Given the description of an element on the screen output the (x, y) to click on. 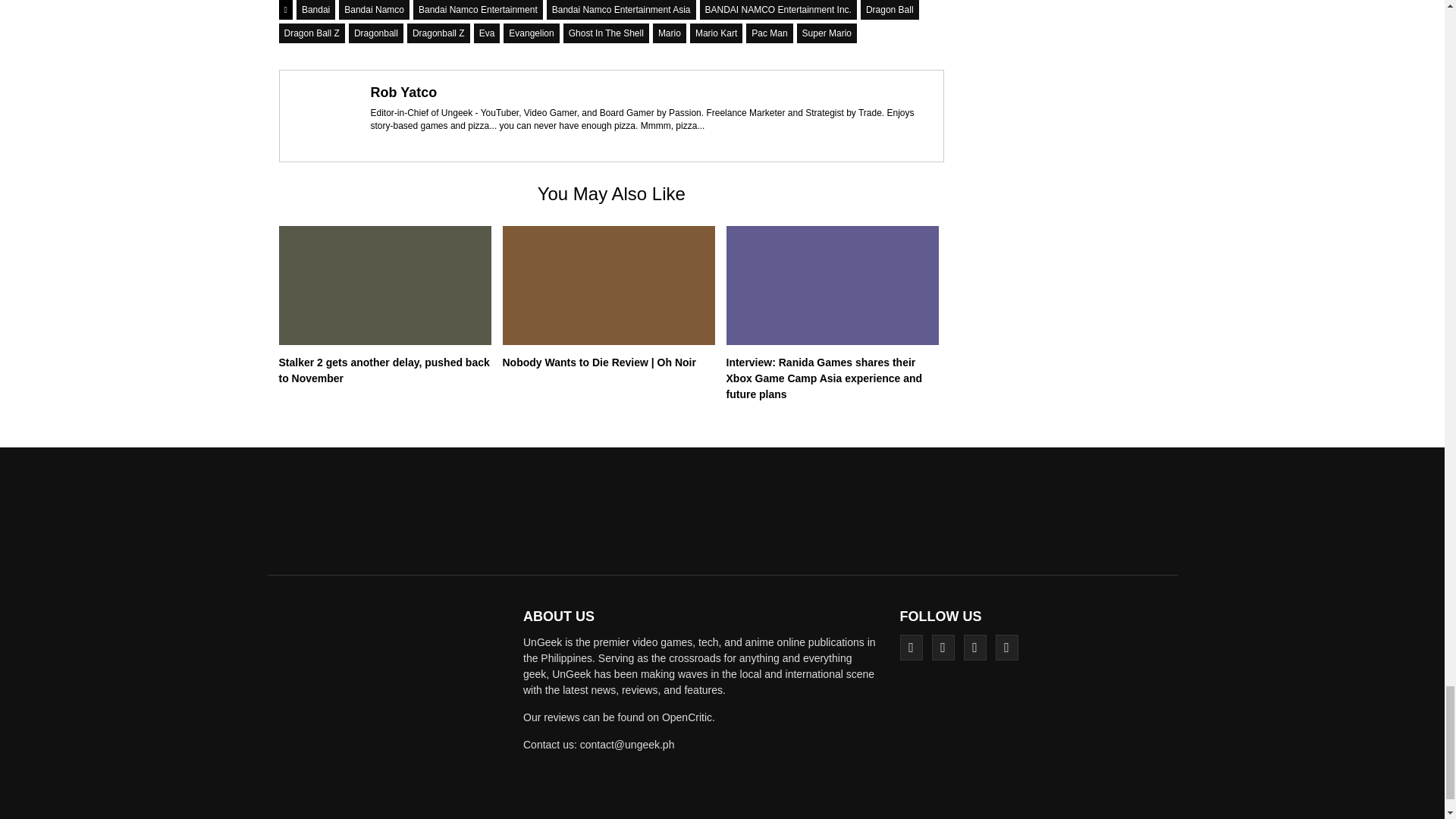
Eva (487, 33)
Bandai Namco Entertainment (478, 9)
Bandai (315, 9)
Bandai Namco (374, 9)
Dragonball (376, 33)
Evangelion (531, 33)
Bandai Namco Entertainment Asia (621, 9)
Dragon Ball (889, 9)
UnGeek (389, 714)
BANDAI NAMCO Entertainment Inc. (777, 9)
Dragonball Z (438, 33)
Dragon Ball Z (312, 33)
